Given the description of an element on the screen output the (x, y) to click on. 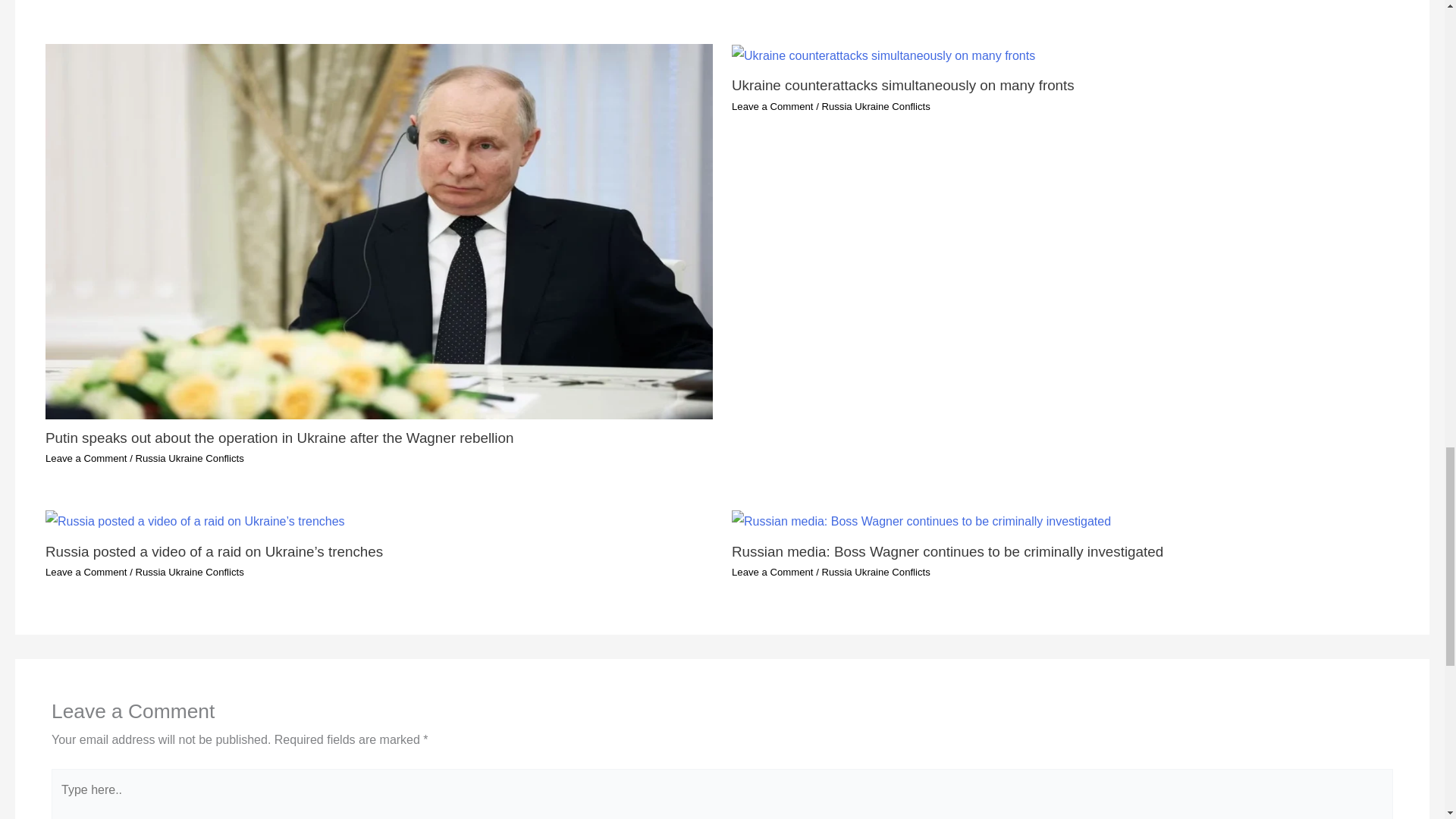
Ukraine counterattacks simultaneously on many fronts (903, 84)
Russia Ukraine Conflicts (189, 572)
Leave a Comment (772, 106)
Russia Ukraine Conflicts (875, 106)
Leave a Comment (86, 572)
Russia Ukraine Conflicts (189, 458)
Leave a Comment (86, 458)
